Given the description of an element on the screen output the (x, y) to click on. 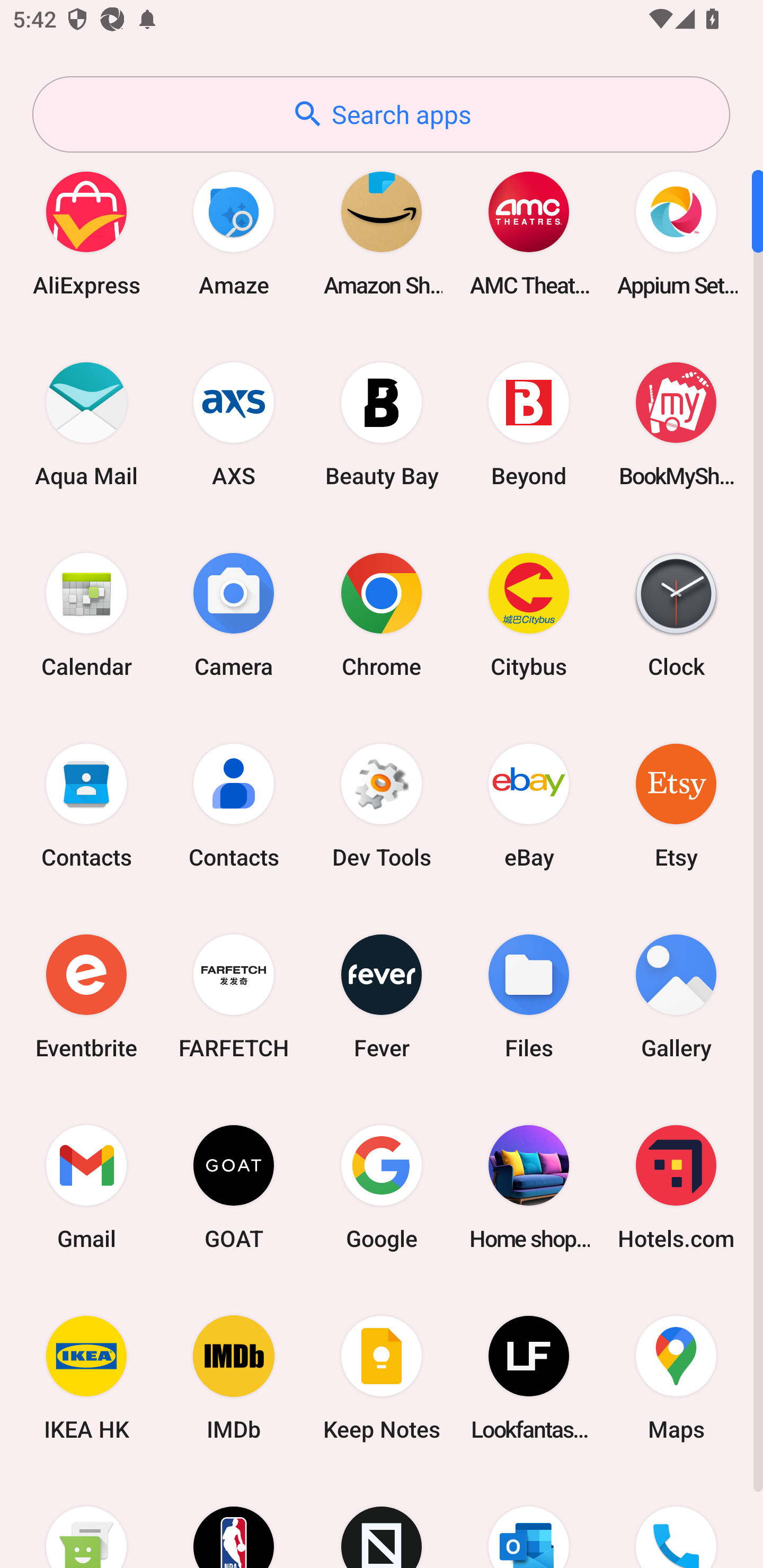
  Search apps (381, 114)
AliExpress (86, 233)
Amaze (233, 233)
Amazon Shopping (381, 233)
AMC Theatres (528, 233)
Appium Settings (676, 233)
Aqua Mail (86, 424)
AXS (233, 424)
Beauty Bay (381, 424)
Beyond (528, 424)
BookMyShow (676, 424)
Calendar (86, 614)
Camera (233, 614)
Chrome (381, 614)
Citybus (528, 614)
Clock (676, 614)
Contacts (86, 805)
Contacts (233, 805)
Dev Tools (381, 805)
eBay (528, 805)
Etsy (676, 805)
Eventbrite (86, 996)
FARFETCH (233, 996)
Fever (381, 996)
Files (528, 996)
Gallery (676, 996)
Gmail (86, 1186)
GOAT (233, 1186)
Google (381, 1186)
Home shopping (528, 1186)
Hotels.com (676, 1186)
IKEA HK (86, 1377)
IMDb (233, 1377)
Keep Notes (381, 1377)
Lookfantastic (528, 1377)
Maps (676, 1377)
